Given the description of an element on the screen output the (x, y) to click on. 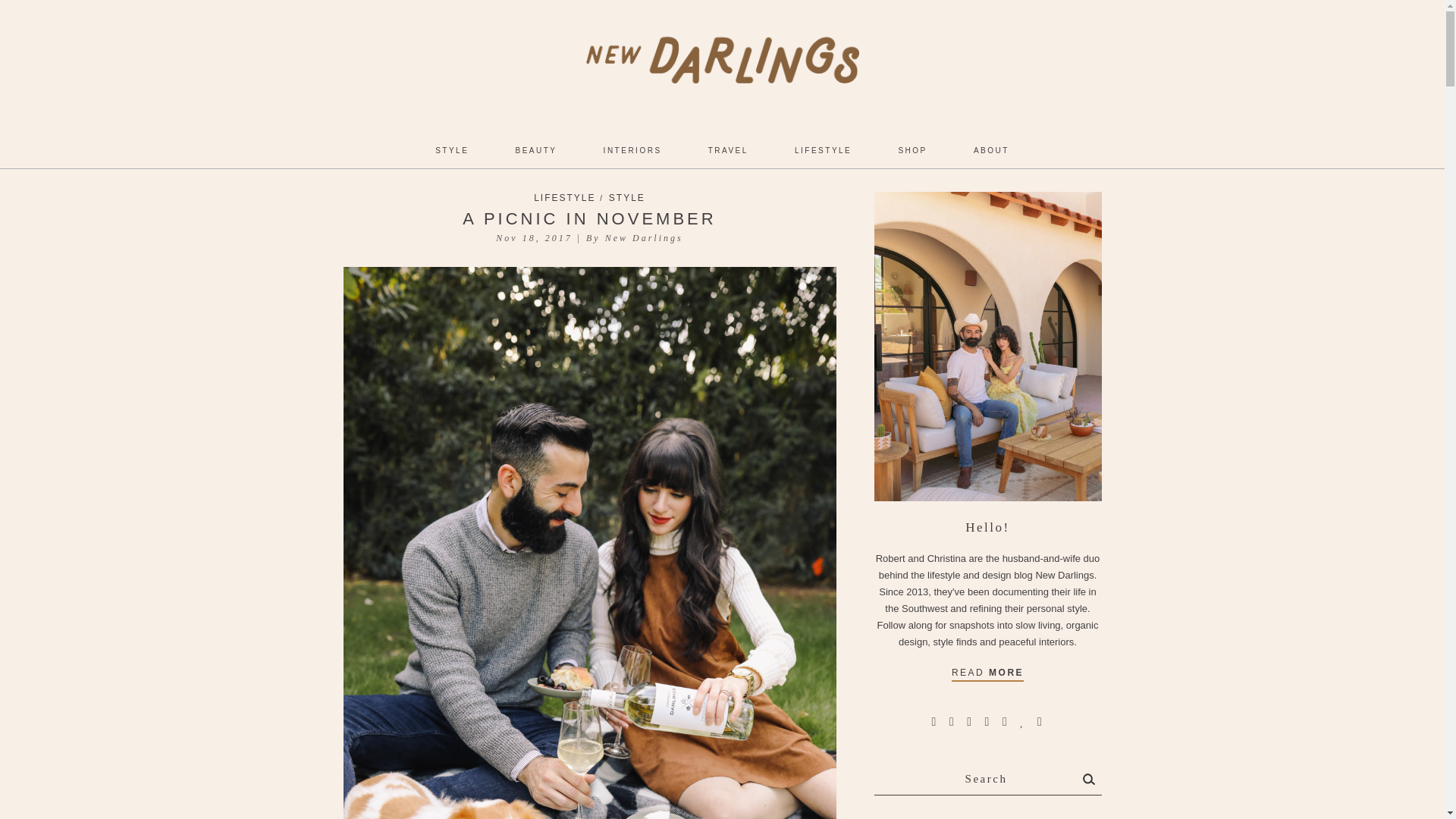
TRAVEL (727, 150)
INTERIORS (631, 150)
STYLE (451, 150)
Hello! (986, 346)
BEAUTY (536, 150)
